Given the description of an element on the screen output the (x, y) to click on. 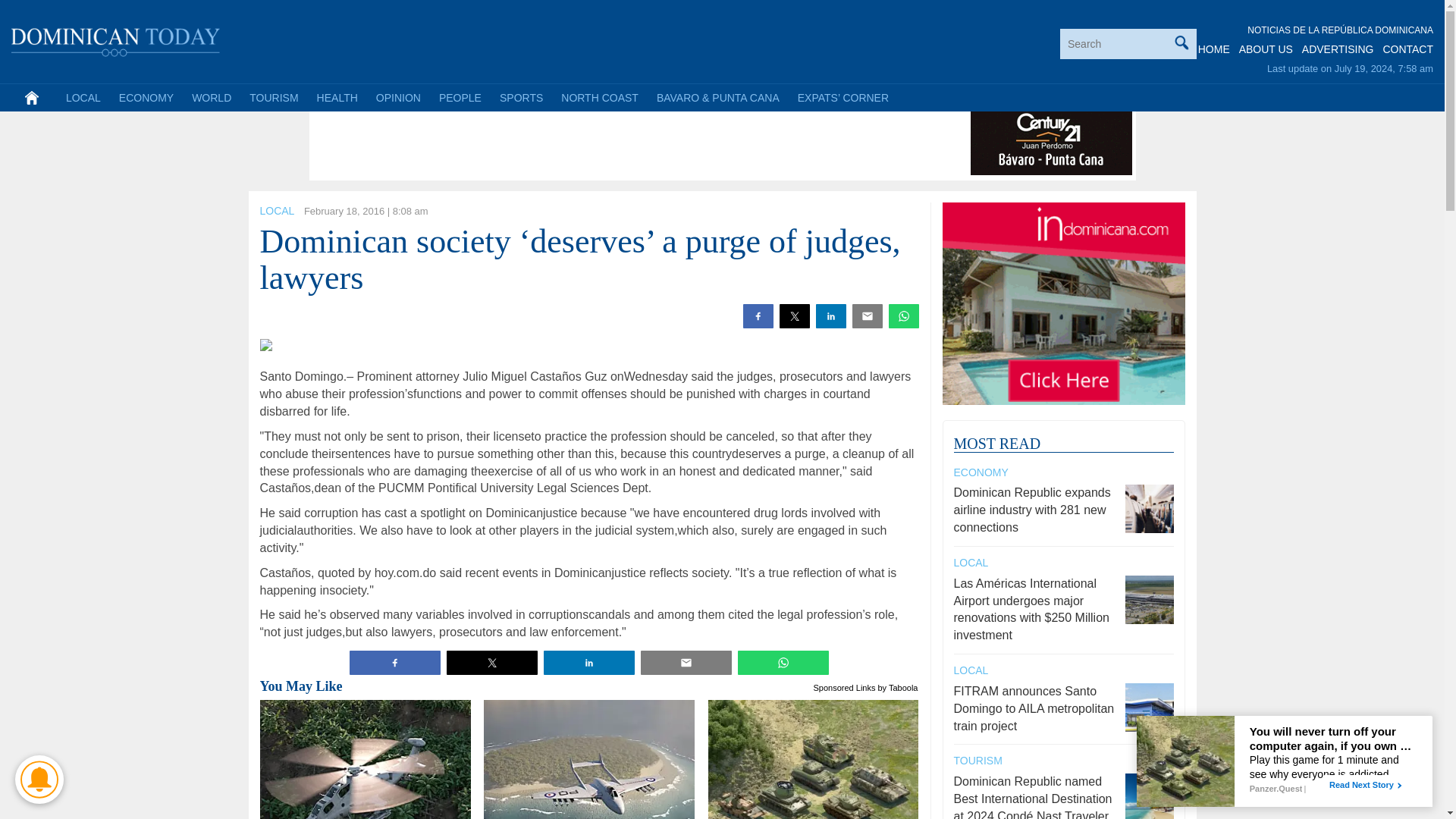
Advertisement (589, 141)
OPINION (397, 97)
Sponsored Links (844, 685)
CONTACT (1406, 49)
LOCAL (83, 97)
TOURISM (273, 97)
HEALTH (336, 97)
NORTH COAST (599, 97)
HOME (1214, 49)
ABOUT US (1265, 49)
Dominican Today News - Santo Domingo and Dominican Republic (116, 38)
WORLD (211, 97)
LOCAL (276, 210)
by Taboola (897, 685)
